Given the description of an element on the screen output the (x, y) to click on. 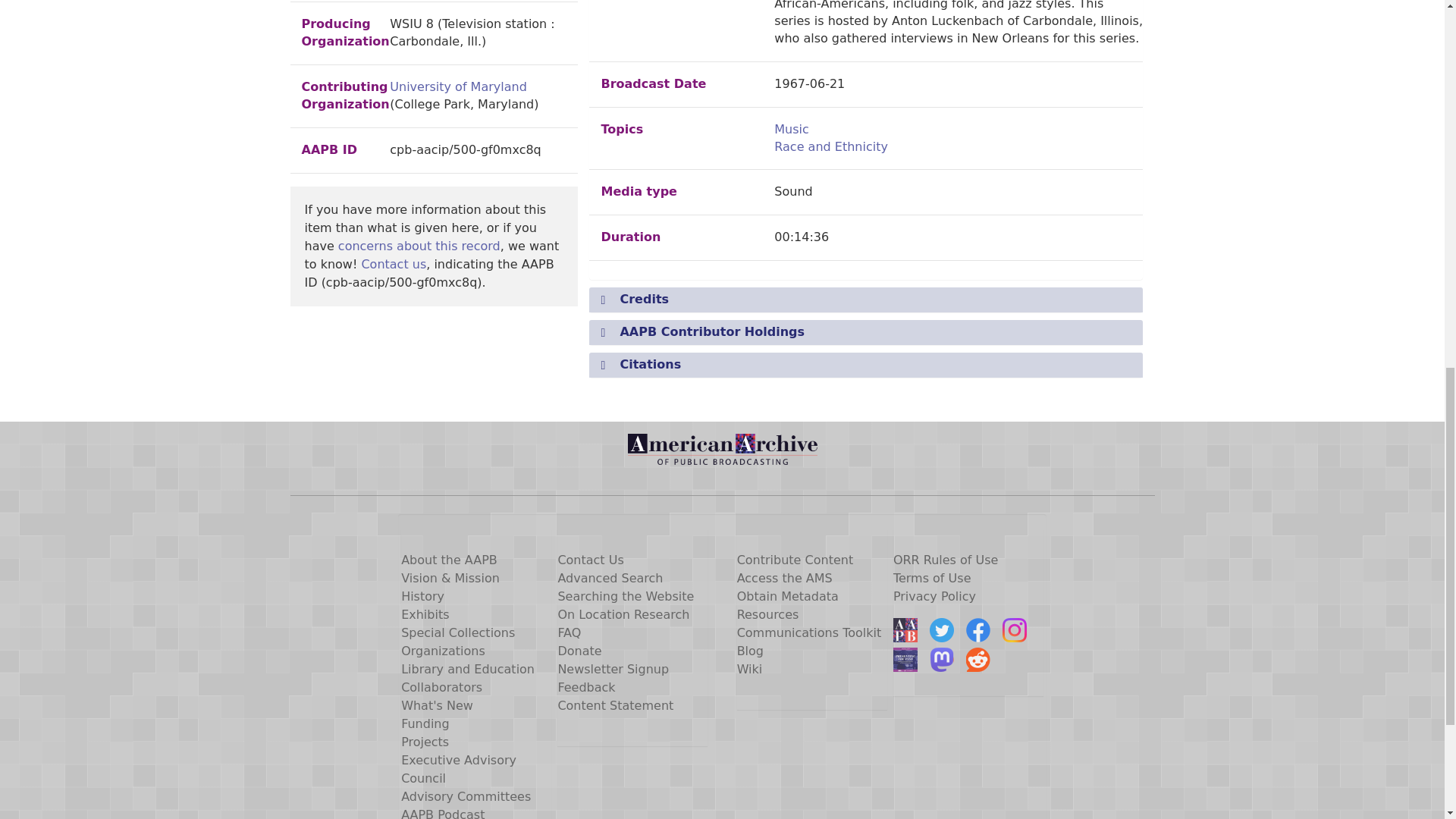
Read the AAPB Blog (905, 630)
Listen to our Podcast (905, 659)
Like us on Facebook (978, 630)
Follow us on Twitter (941, 630)
Follow us on Mastodon (941, 659)
Join us on reddit (978, 659)
Follow us on Instagram (1014, 630)
